Given the description of an element on the screen output the (x, y) to click on. 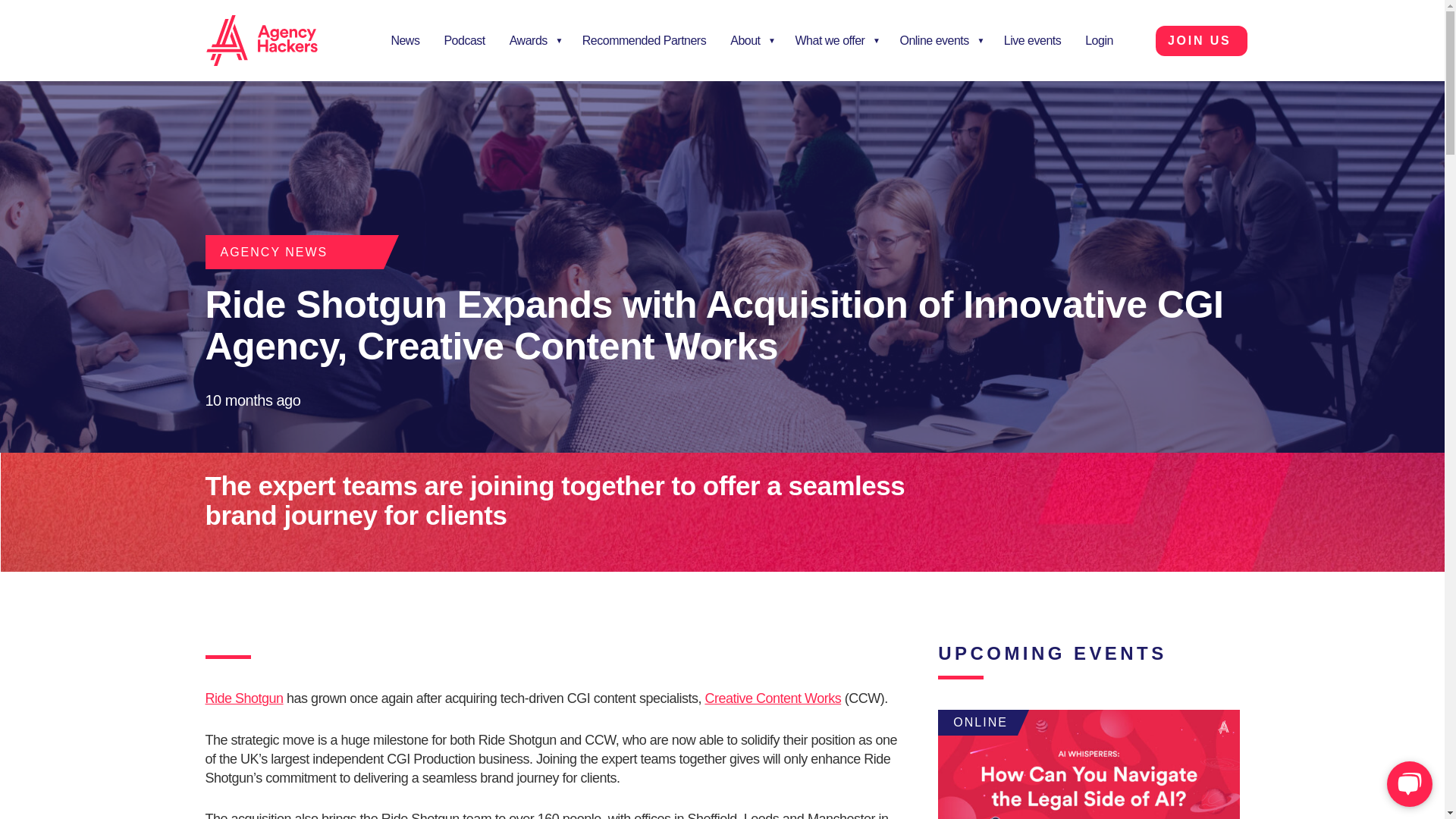
What we offer (835, 40)
Creative Content Works (772, 698)
JOIN US (1201, 40)
Podcast (463, 40)
Awards (533, 40)
About (750, 40)
Login (1099, 40)
ONLINE (1088, 764)
Recommended Partners (643, 40)
Online events (938, 40)
Ride Shotgun (243, 698)
AGENCY NEWS (273, 252)
Live events (1032, 40)
News (404, 40)
Agency Hackers (280, 40)
